Given the description of an element on the screen output the (x, y) to click on. 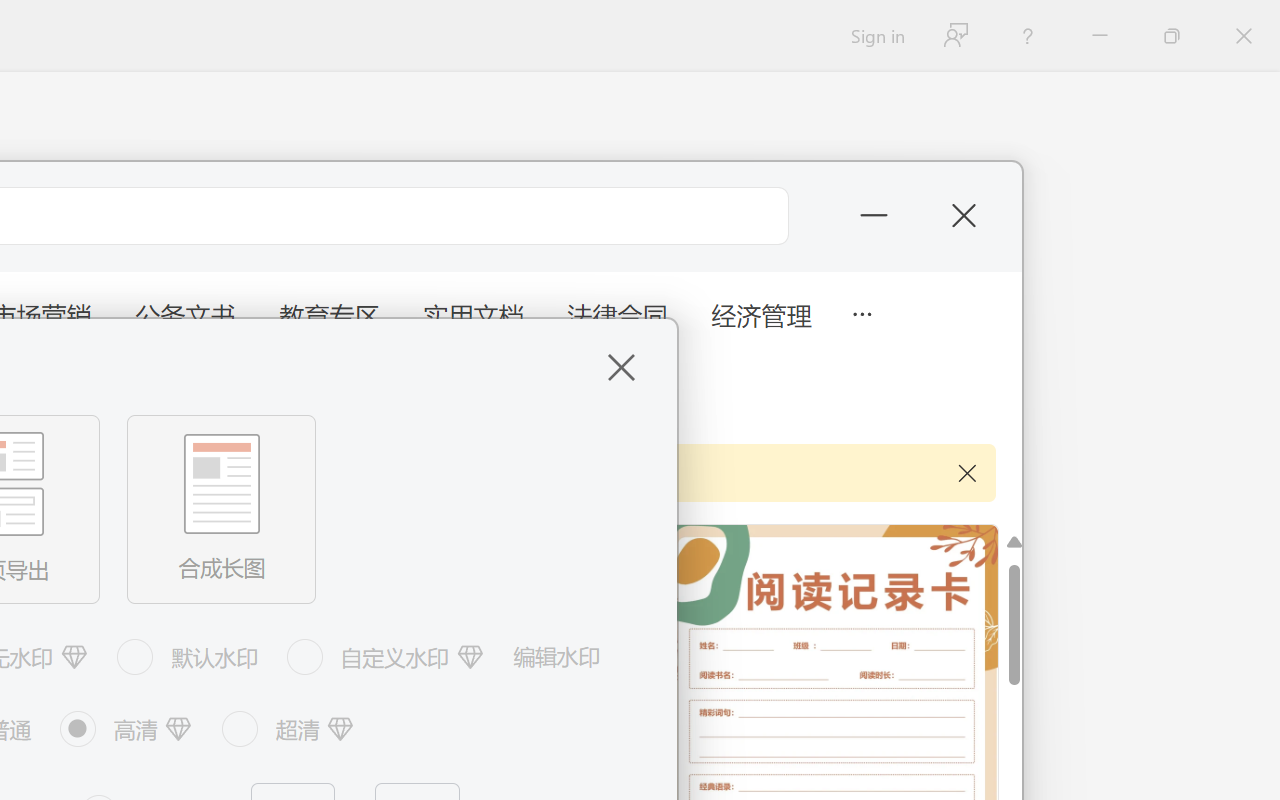
Sign in (875, 35)
5 more tabs (861, 312)
